Given the description of an element on the screen output the (x, y) to click on. 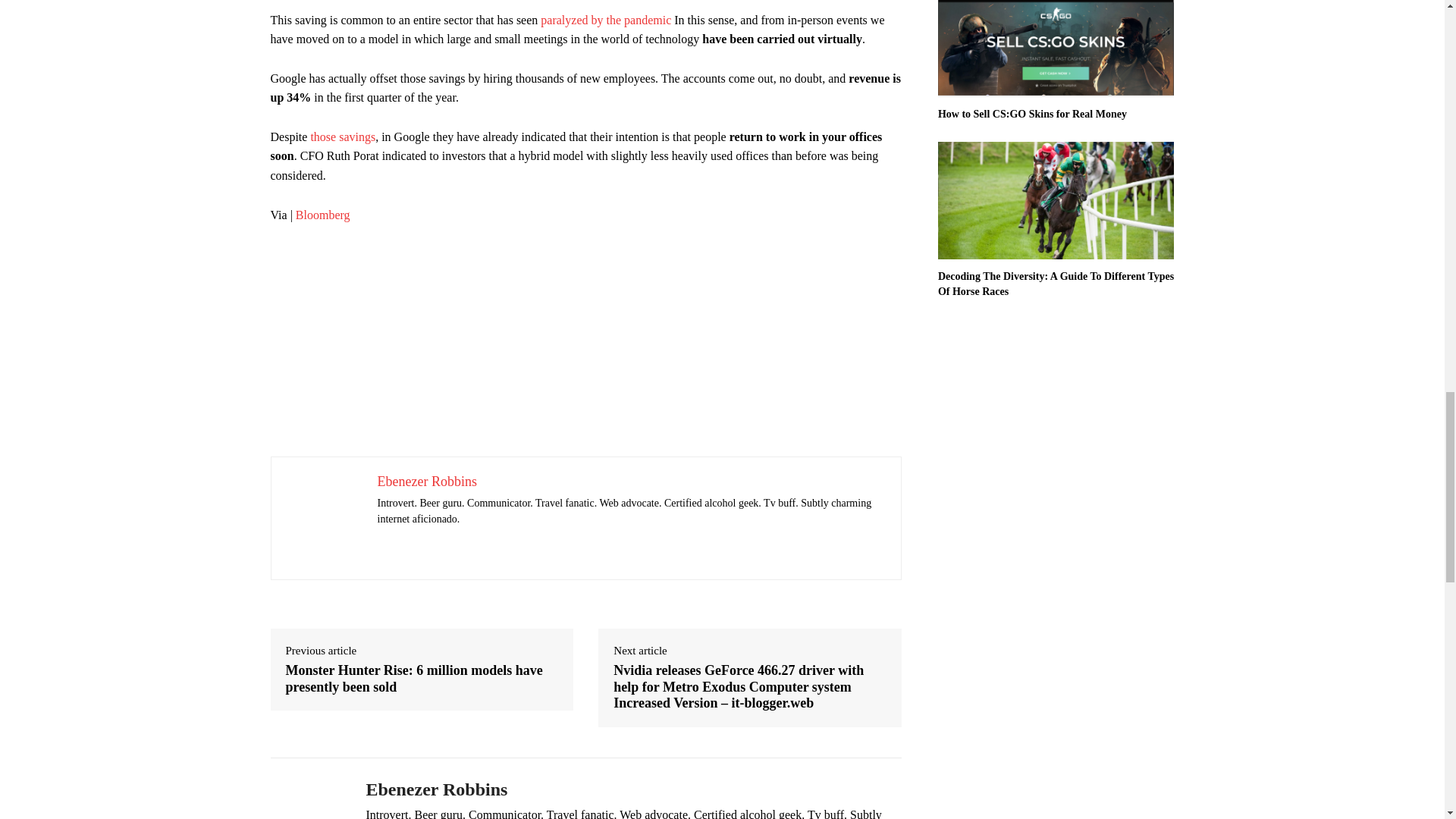
Ebenezer Robbins (305, 796)
Advertisement (585, 5)
Advertisement (585, 350)
